Given the description of an element on the screen output the (x, y) to click on. 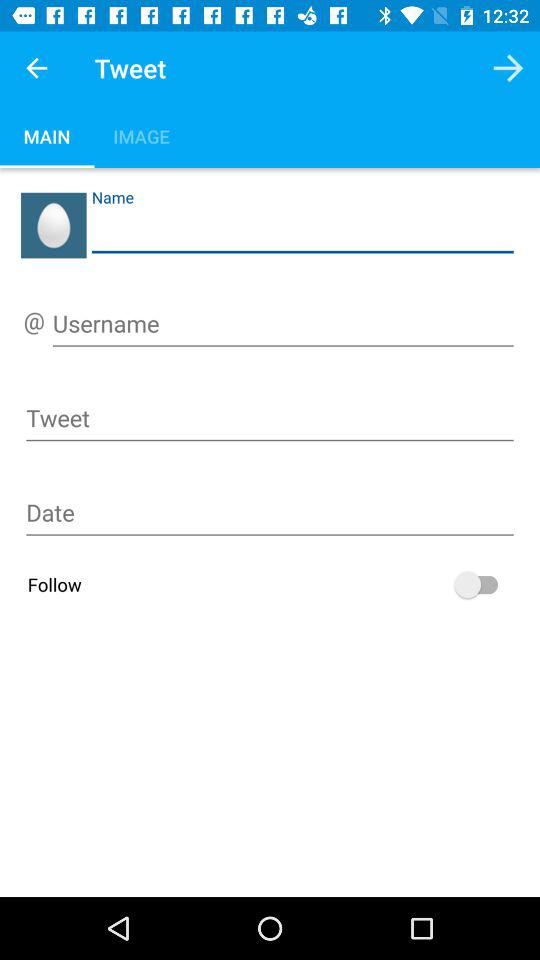
enter name (302, 232)
